Given the description of an element on the screen output the (x, y) to click on. 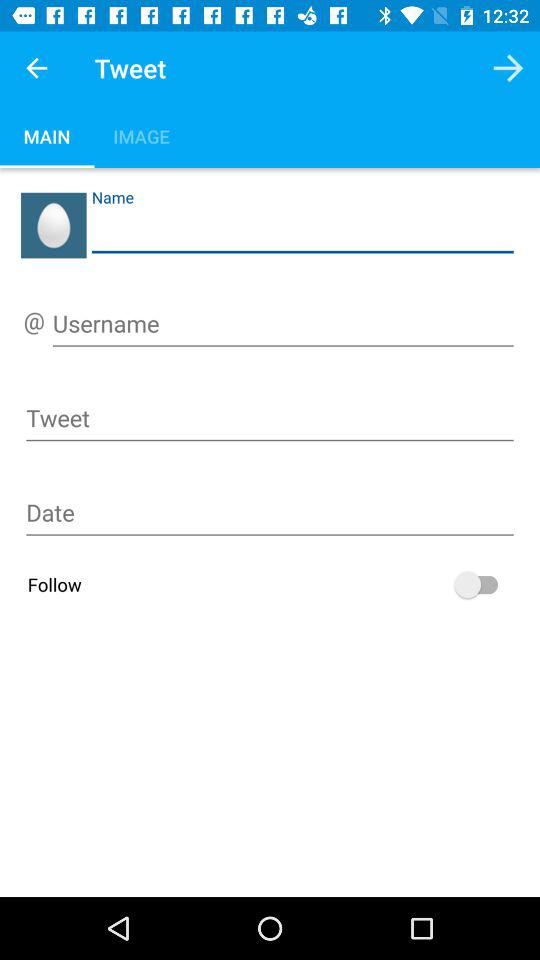
enter name (302, 232)
